Given the description of an element on the screen output the (x, y) to click on. 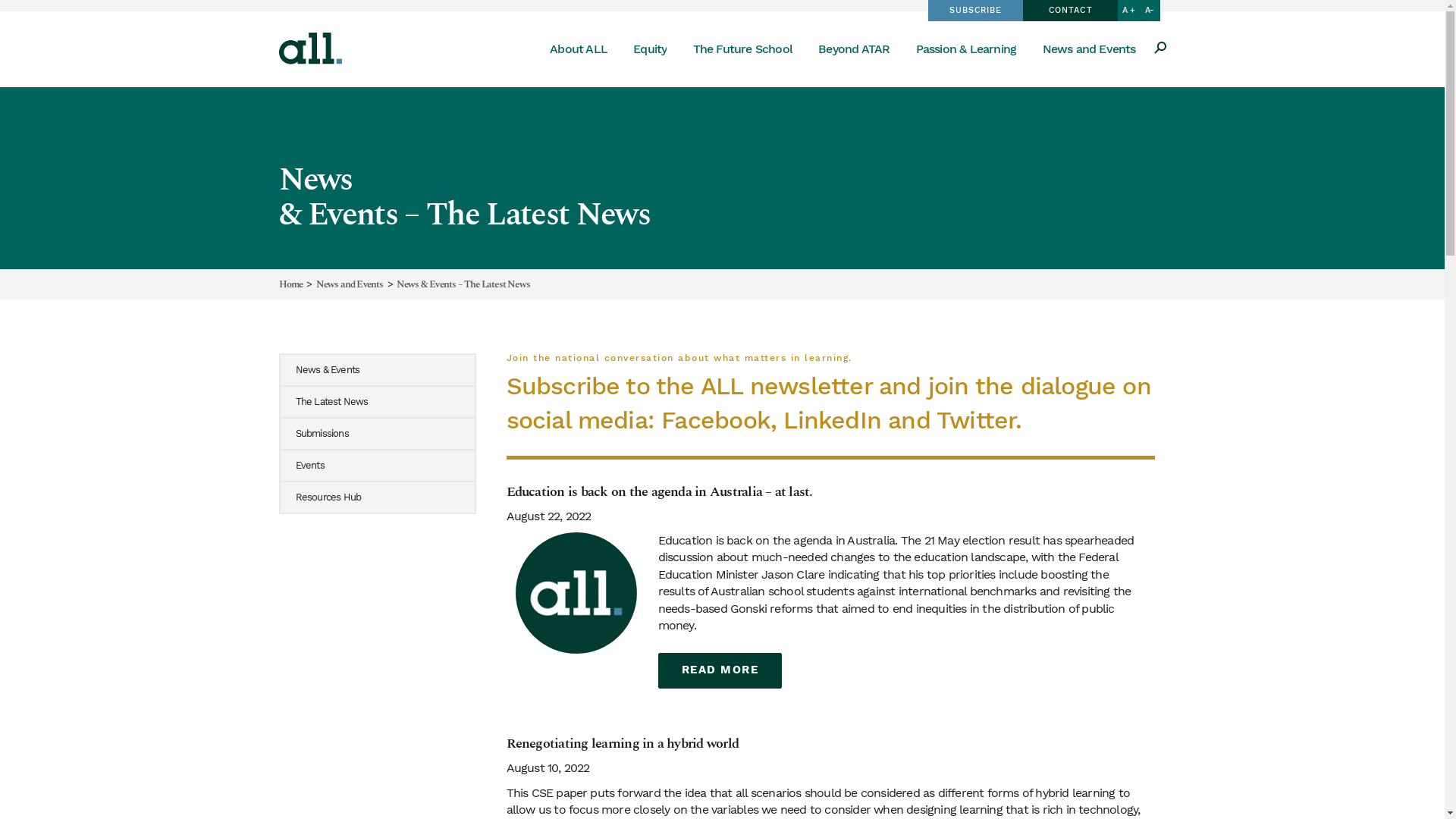
News & Events Element type: text (377, 369)
Beyond ATAR Element type: text (853, 47)
A- Element type: text (1149, 10)
Resources Hub Element type: text (377, 496)
The Future School Element type: text (742, 47)
Passion & Learning Element type: text (966, 47)
SUBSCRIBE Element type: text (975, 10)
A + Element type: text (1128, 10)
News and Events Element type: text (1088, 47)
The Latest News Element type: text (377, 401)
READ MORE Element type: text (720, 670)
Home Element type: text (291, 284)
Events Element type: text (377, 464)
Equity Element type: text (649, 47)
Renegotiating learning in a hybrid world Element type: text (622, 743)
Submissions Element type: text (377, 432)
CONTACT Element type: text (1069, 10)
News and Events Element type: text (349, 284)
About ALL Element type: text (578, 47)
